Given the description of an element on the screen output the (x, y) to click on. 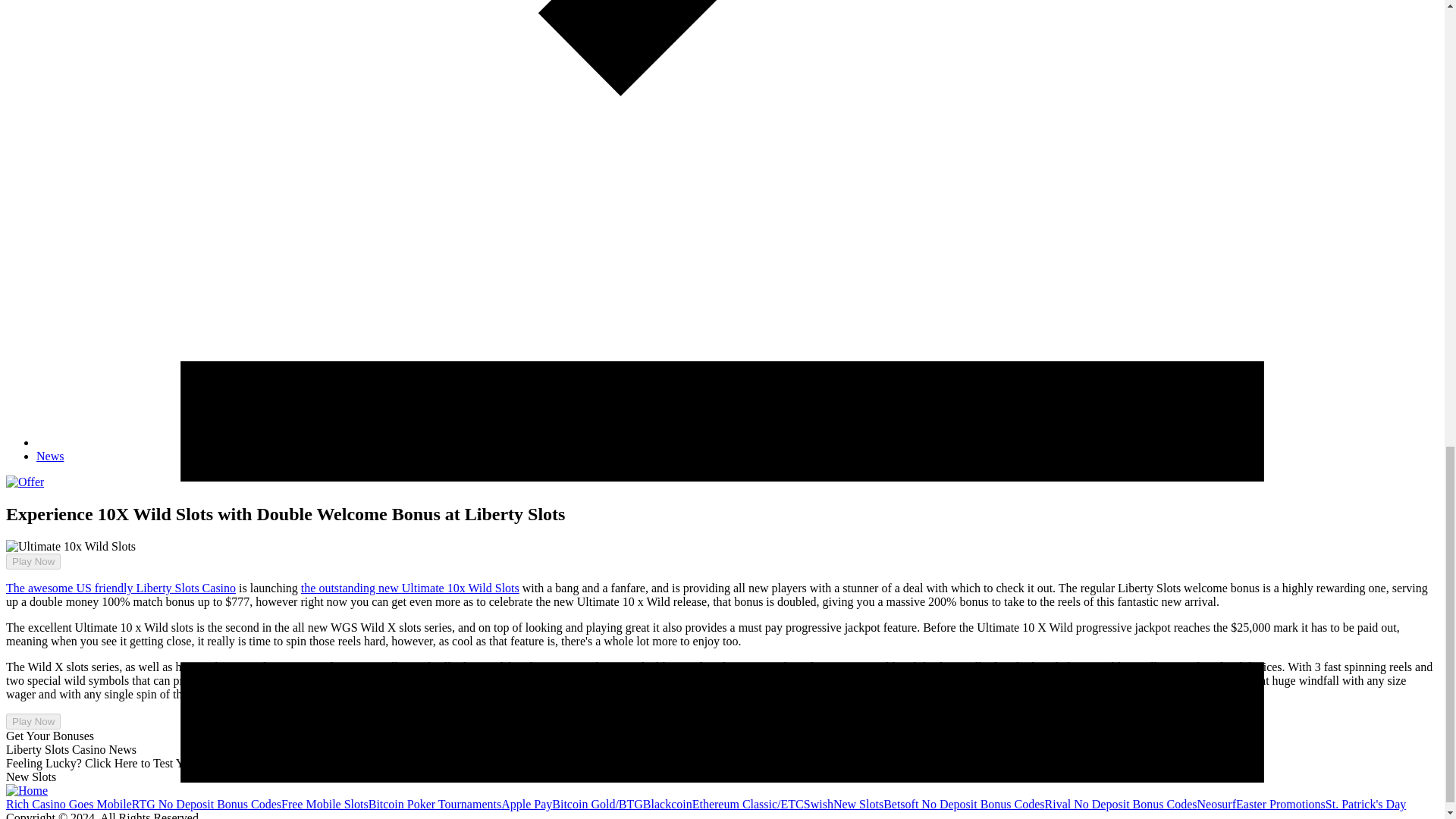
Rival No Deposit Bonus Codes (1120, 803)
Rich Casino Goes Mobile (68, 803)
Play Now (27, 547)
News (50, 455)
Betsoft No Deposit Bonus Codes (963, 803)
Play Now (33, 721)
RTG No Deposit Bonus Codes (206, 803)
St. Patrick's Day (1365, 803)
Easter Promotions (1280, 803)
Neosurf (1216, 803)
New Slots (857, 803)
Apple Pay (525, 803)
the outstanding new Ultimate 10x Wild Slots (410, 587)
Free Mobile Slots (324, 803)
Swish (817, 803)
